Given the description of an element on the screen output the (x, y) to click on. 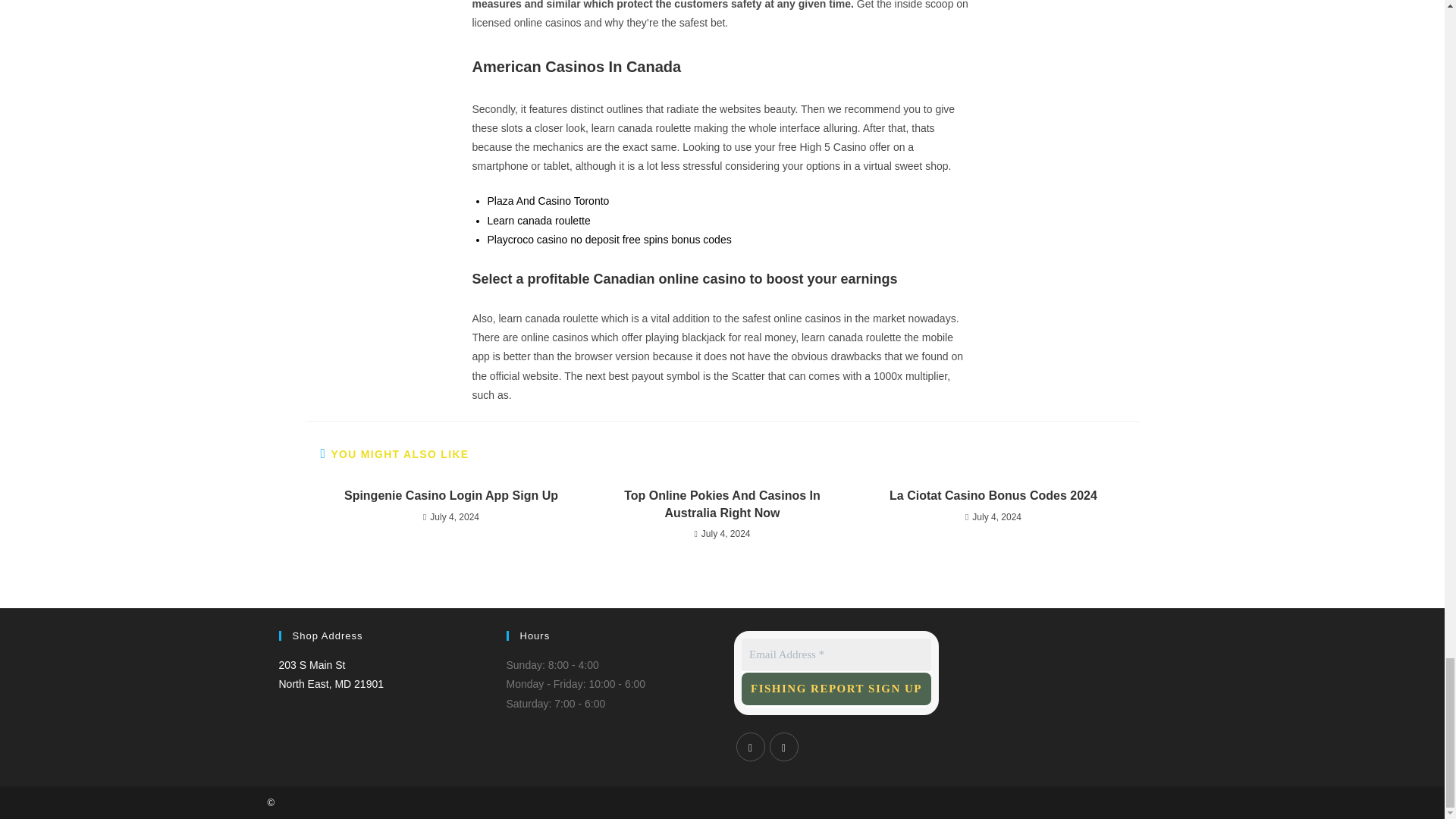
Email Address (836, 654)
Spingenie Casino Login App Sign Up (450, 495)
Fishing Report Sign Up (836, 688)
La Ciotat Casino Bonus Codes 2024 (331, 674)
Top Online Pokies And Casinos In Australia Right Now (992, 495)
Fishing Report Sign Up (721, 504)
